Given the description of an element on the screen output the (x, y) to click on. 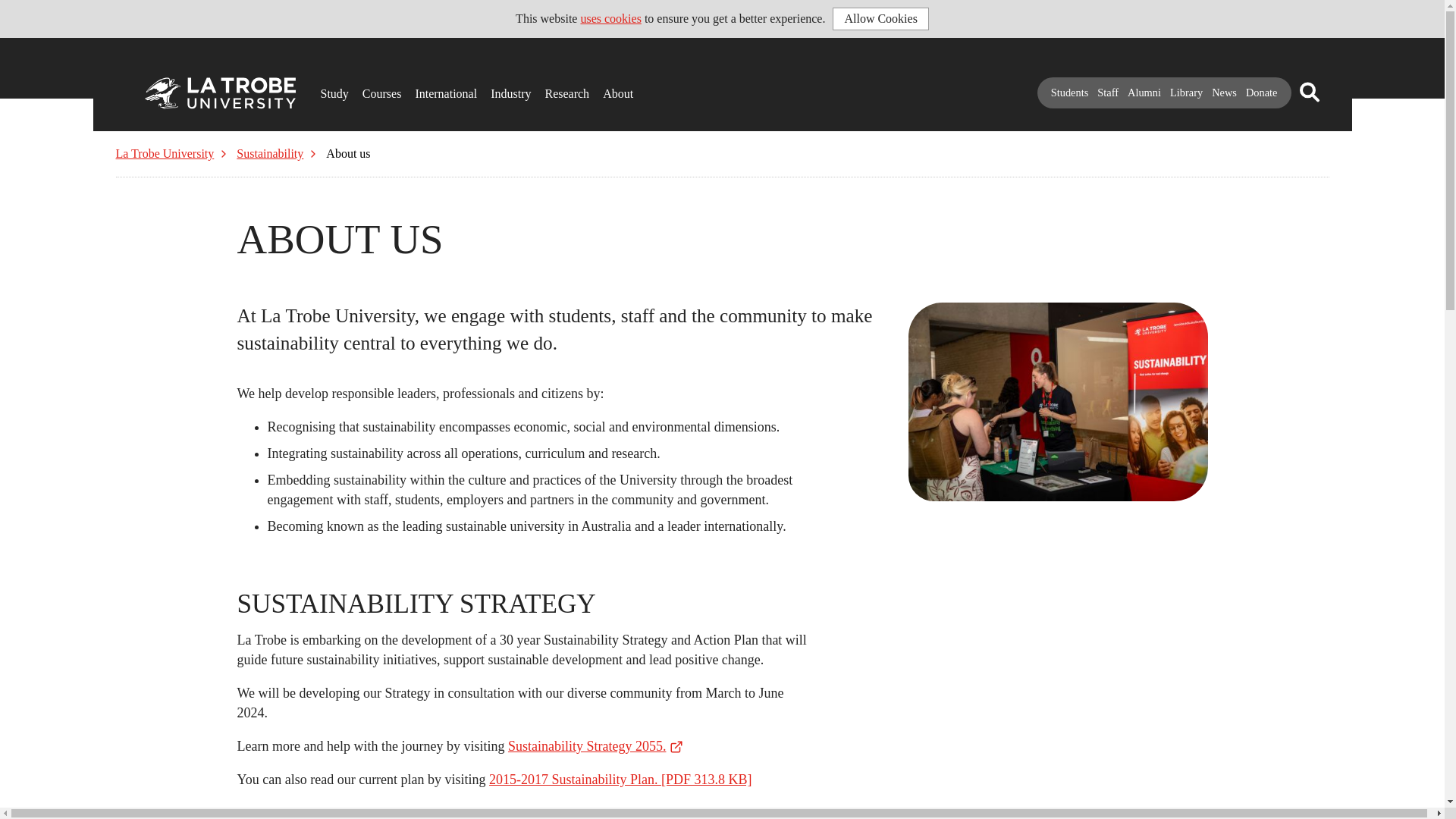
Donate (1262, 92)
Industry and Community (495, 88)
Alumni (1143, 92)
About (607, 88)
Research (549, 88)
Research (549, 88)
International students (419, 88)
Allow Cookies (880, 18)
About (607, 88)
Library (1186, 92)
